Given the description of an element on the screen output the (x, y) to click on. 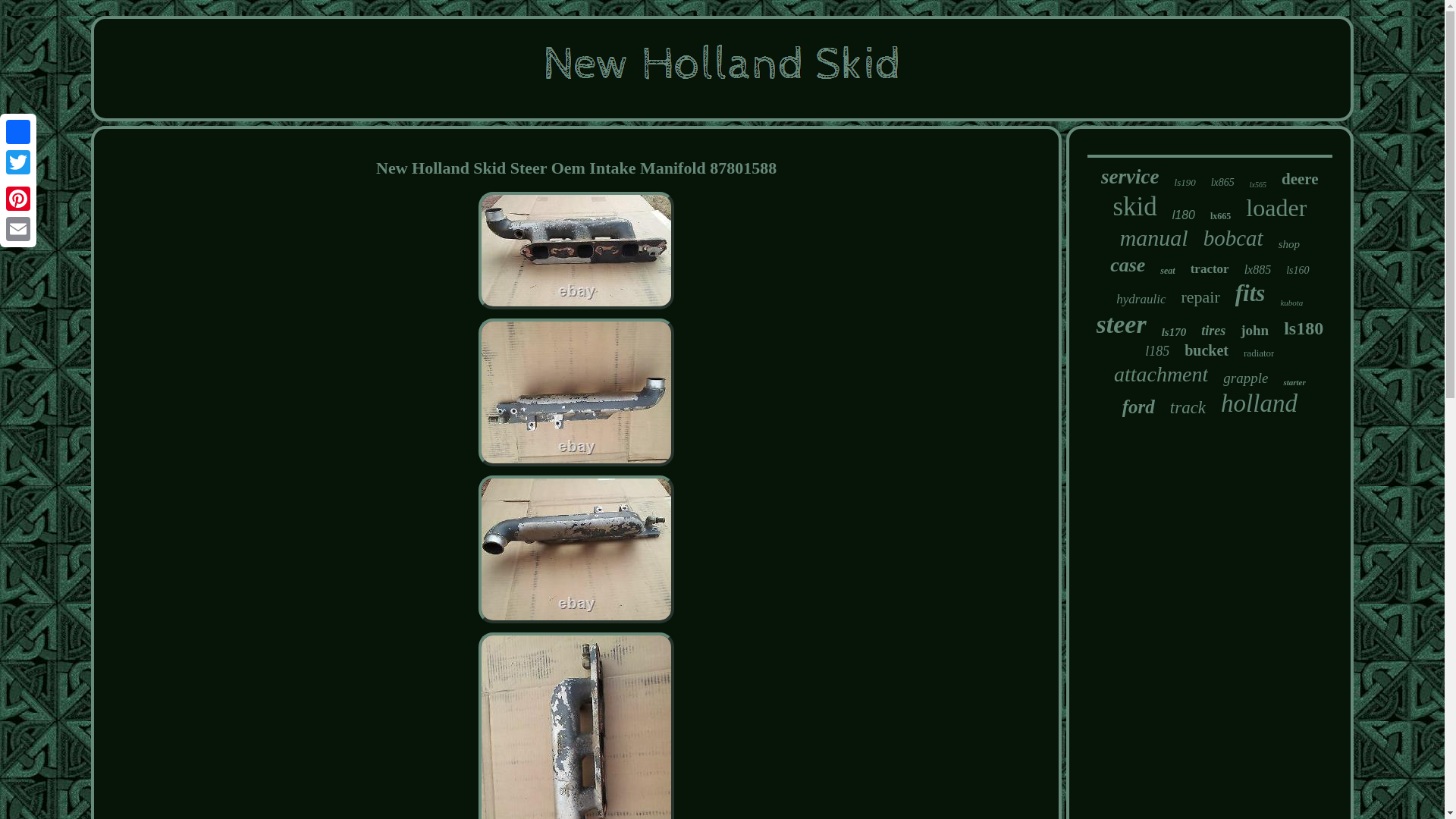
manual (1153, 237)
seat (1167, 270)
repair (1200, 297)
New Holland Skid Steer Oem Intake Manifold 87801588 (576, 725)
ls160 (1296, 270)
tires (1213, 330)
john (1254, 330)
tractor (1209, 268)
Facebook (17, 132)
Email (17, 228)
